Given the description of an element on the screen output the (x, y) to click on. 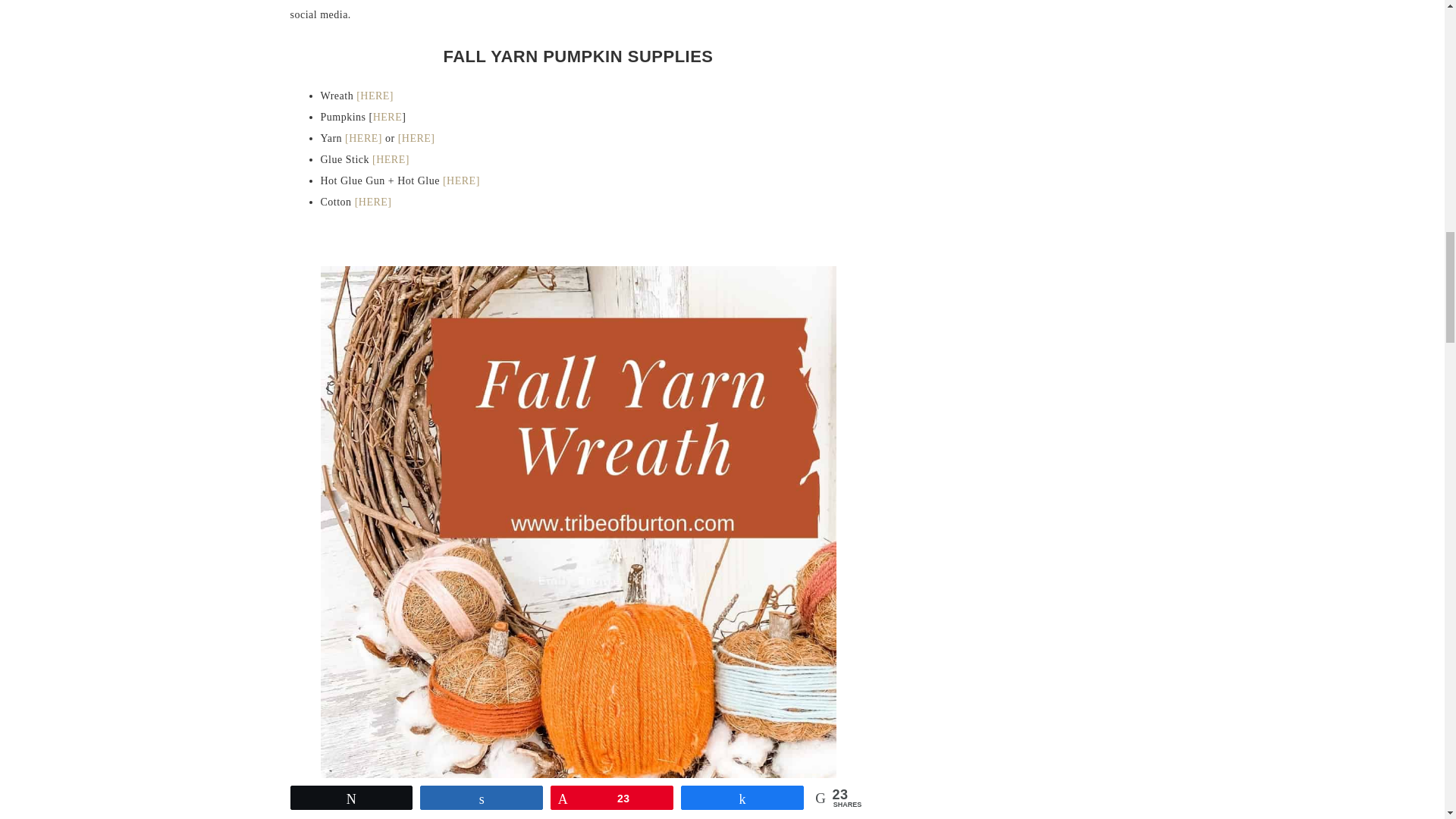
HERE (387, 116)
